Given the description of an element on the screen output the (x, y) to click on. 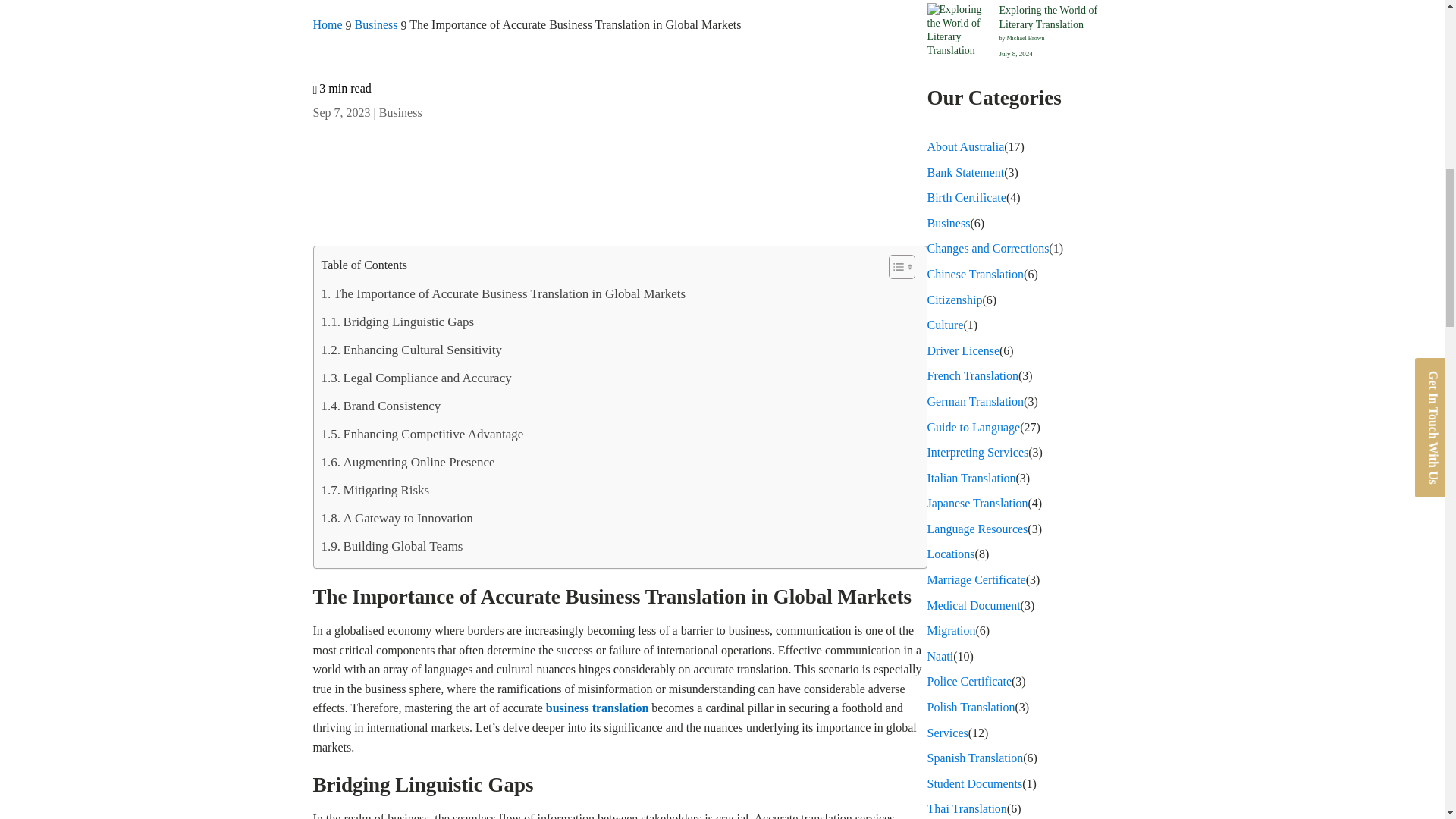
Legal Compliance and Accuracy (416, 377)
Mitigating Risks (375, 489)
Enhancing Cultural Sensitivity (411, 349)
Augmenting Online Presence (408, 461)
Enhancing Competitive Advantage (422, 433)
Bridging Linguistic Gaps (397, 321)
Brand Consistency (381, 406)
Building Global Teams (392, 546)
A Gateway to Innovation (397, 518)
